Given the description of an element on the screen output the (x, y) to click on. 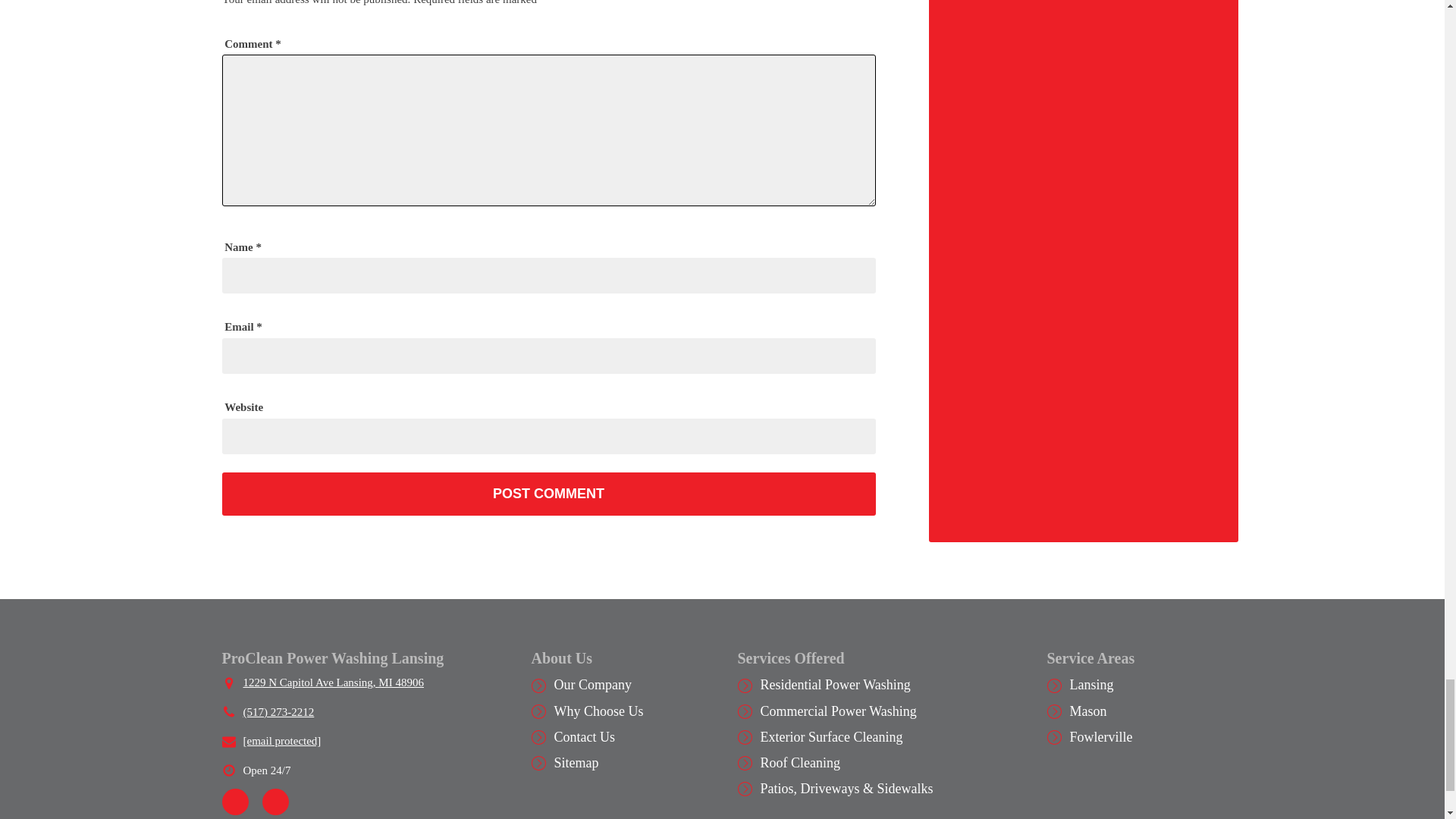
Why Choose Us (598, 710)
Our Company (592, 684)
Post Comment (548, 494)
Post Comment (548, 494)
1229 N Capitol Ave Lansing, MI 48906 (333, 682)
